Given the description of an element on the screen output the (x, y) to click on. 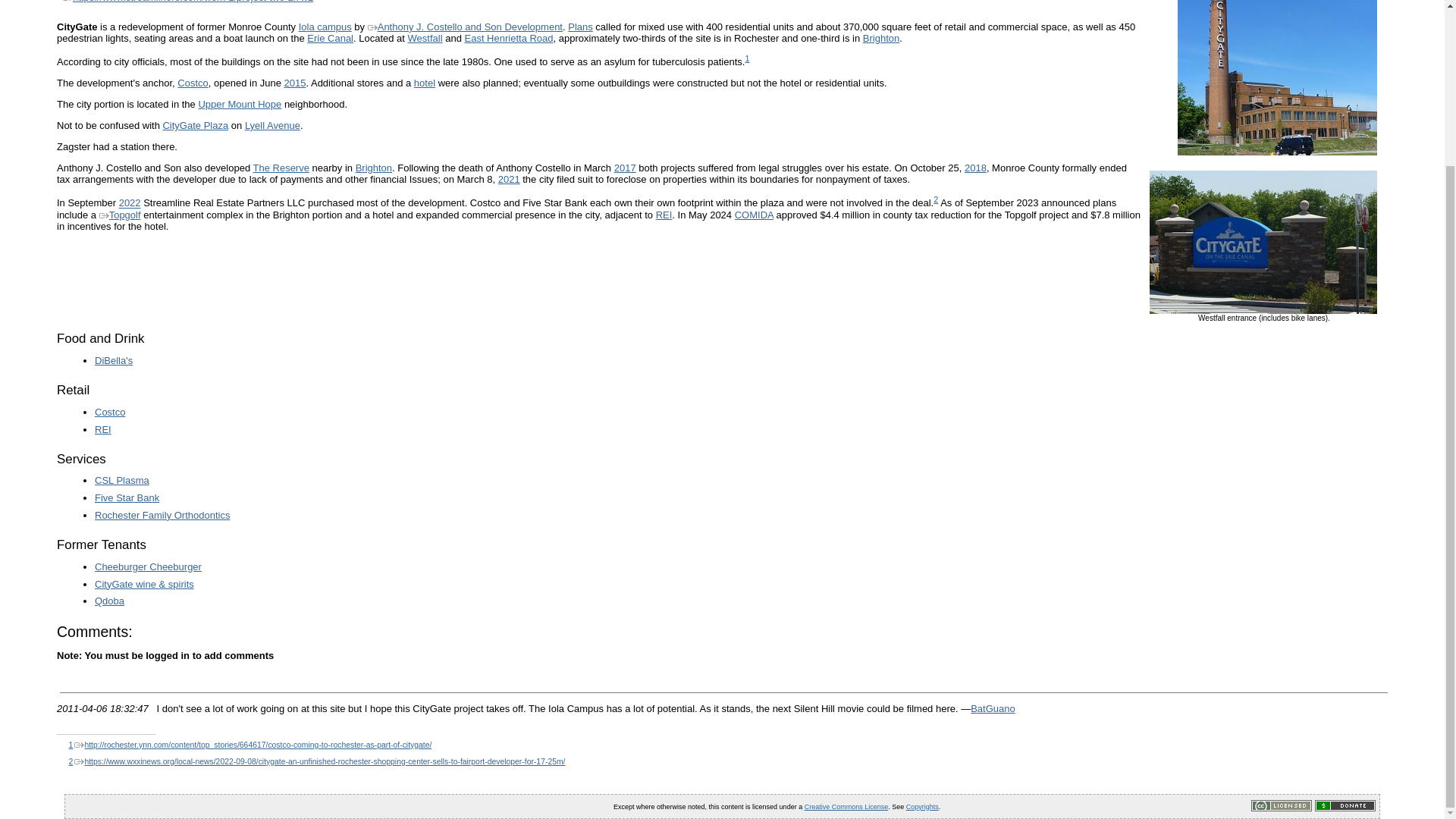
East Henrietta Road (508, 38)
Upper Mount Hope (239, 103)
Erie Canal (330, 38)
Brighton (881, 38)
2018 (975, 167)
Brighton (881, 38)
Upper Mount Hope (239, 103)
DiBella's (113, 360)
Lyell Avenue (271, 125)
Costco (192, 82)
